Given the description of an element on the screen output the (x, y) to click on. 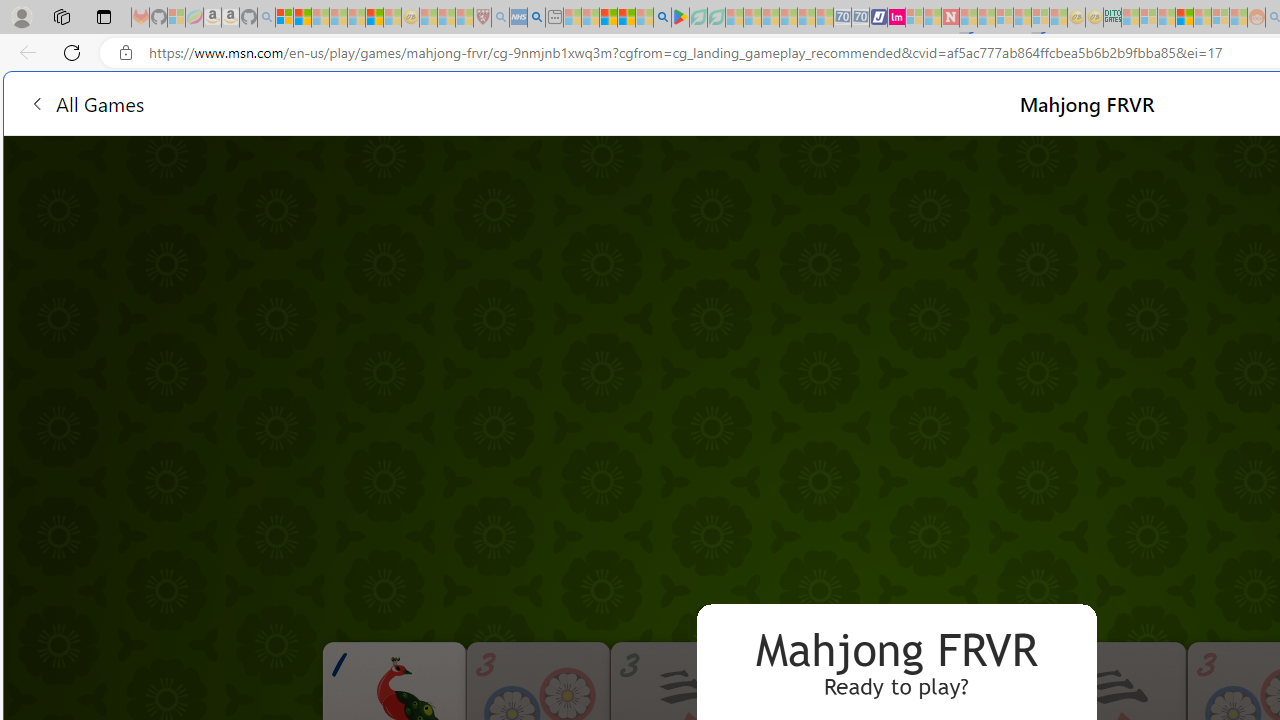
Terms of Use Agreement - Sleeping (697, 17)
utah sues federal government - Search (536, 17)
Pets - MSN (626, 17)
